Given the description of an element on the screen output the (x, y) to click on. 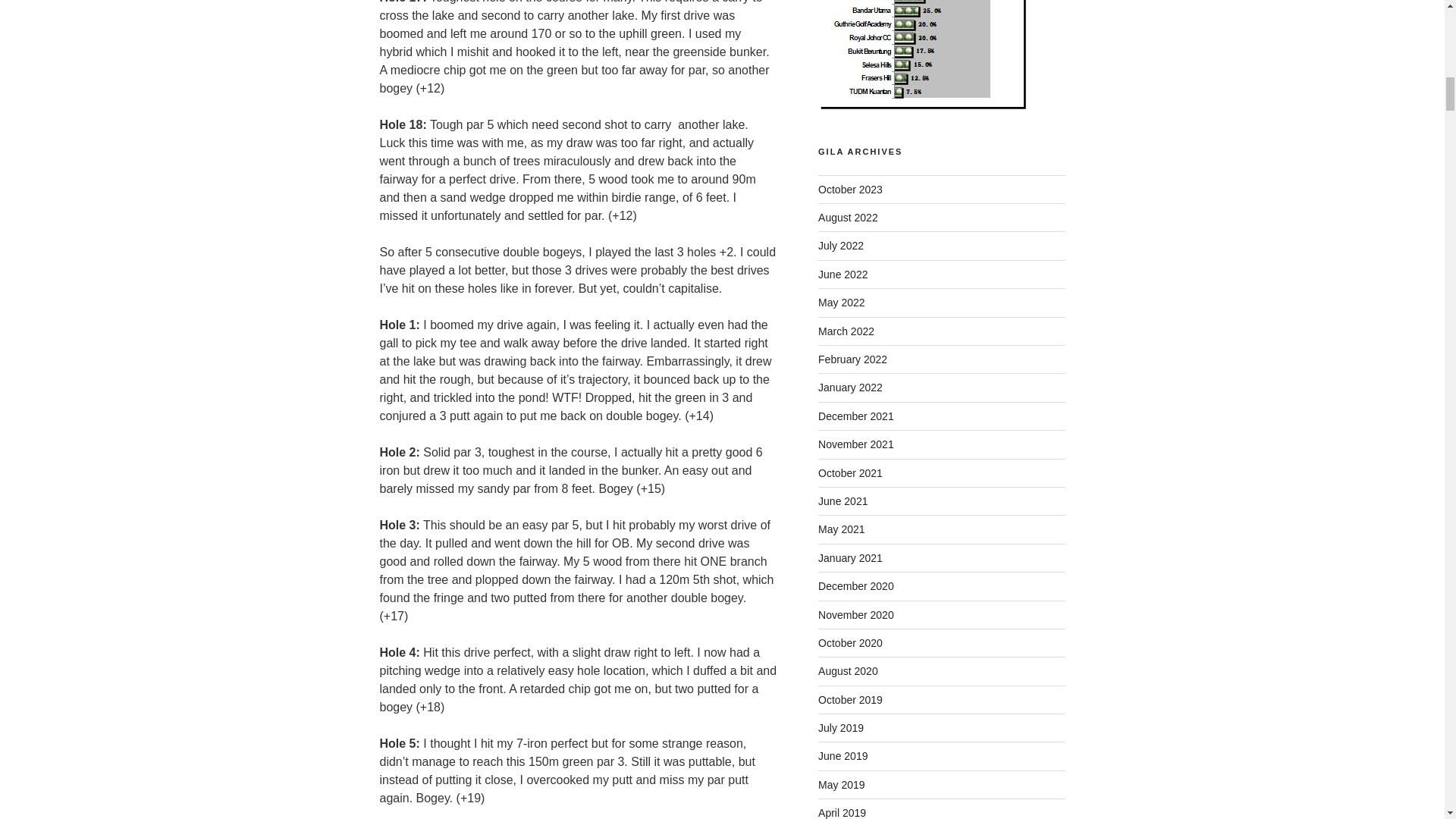
February 2022 (852, 358)
January 2022 (850, 387)
July 2022 (840, 245)
May 2022 (841, 302)
March 2022 (846, 331)
August 2022 (847, 217)
June 2022 (842, 274)
October 2023 (850, 189)
